Given the description of an element on the screen output the (x, y) to click on. 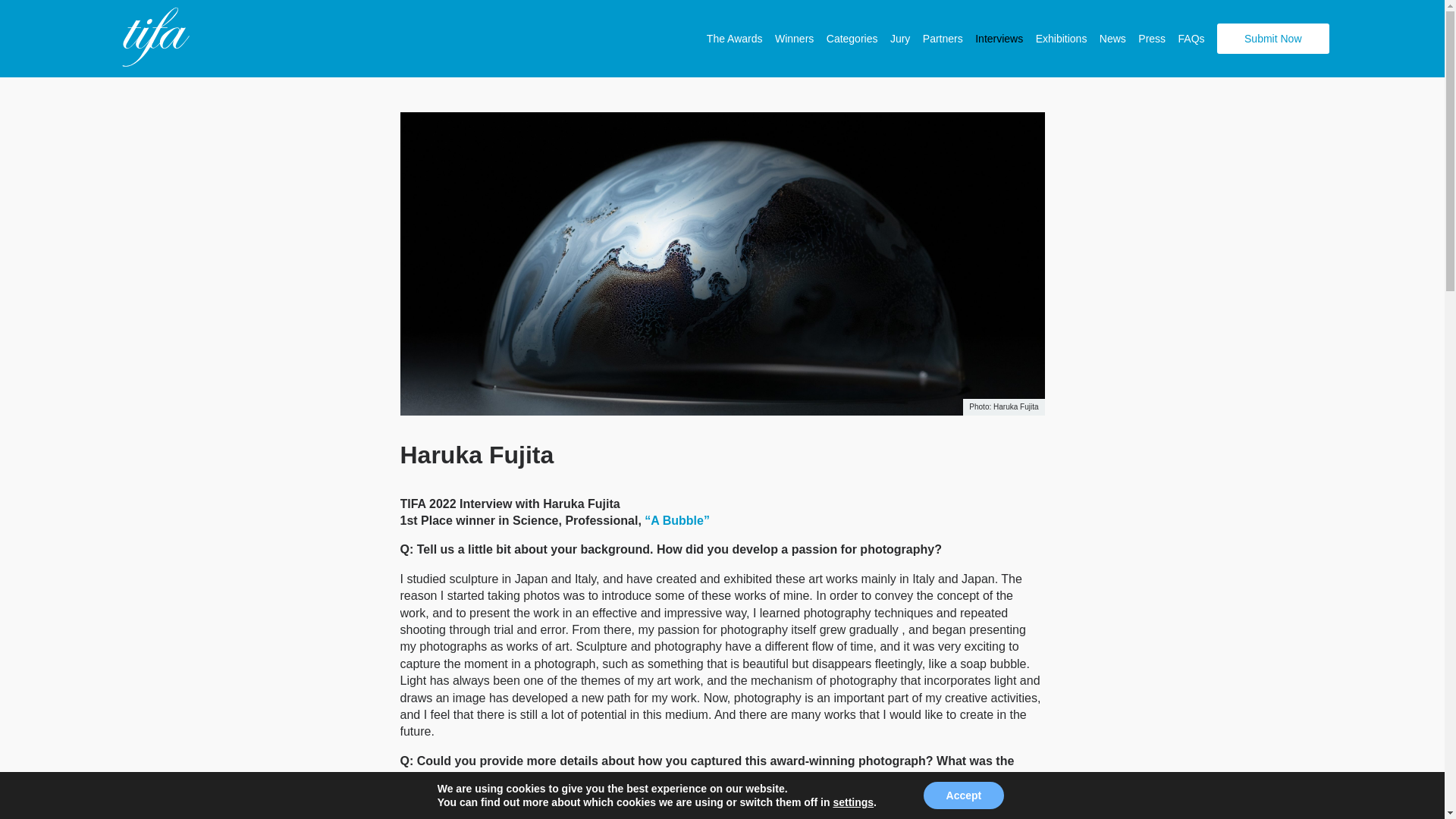
Haruka Fujita - TIFA (152, 37)
Partners (942, 38)
Categories (852, 38)
News (1112, 38)
Interviews (999, 38)
Winners (793, 38)
Press (1152, 38)
Exhibitions (1061, 38)
Jury (899, 38)
FAQs (1191, 38)
Chat (1406, 779)
Submit Now (1272, 38)
Accept (963, 795)
The Awards (734, 38)
settings (852, 802)
